Given the description of an element on the screen output the (x, y) to click on. 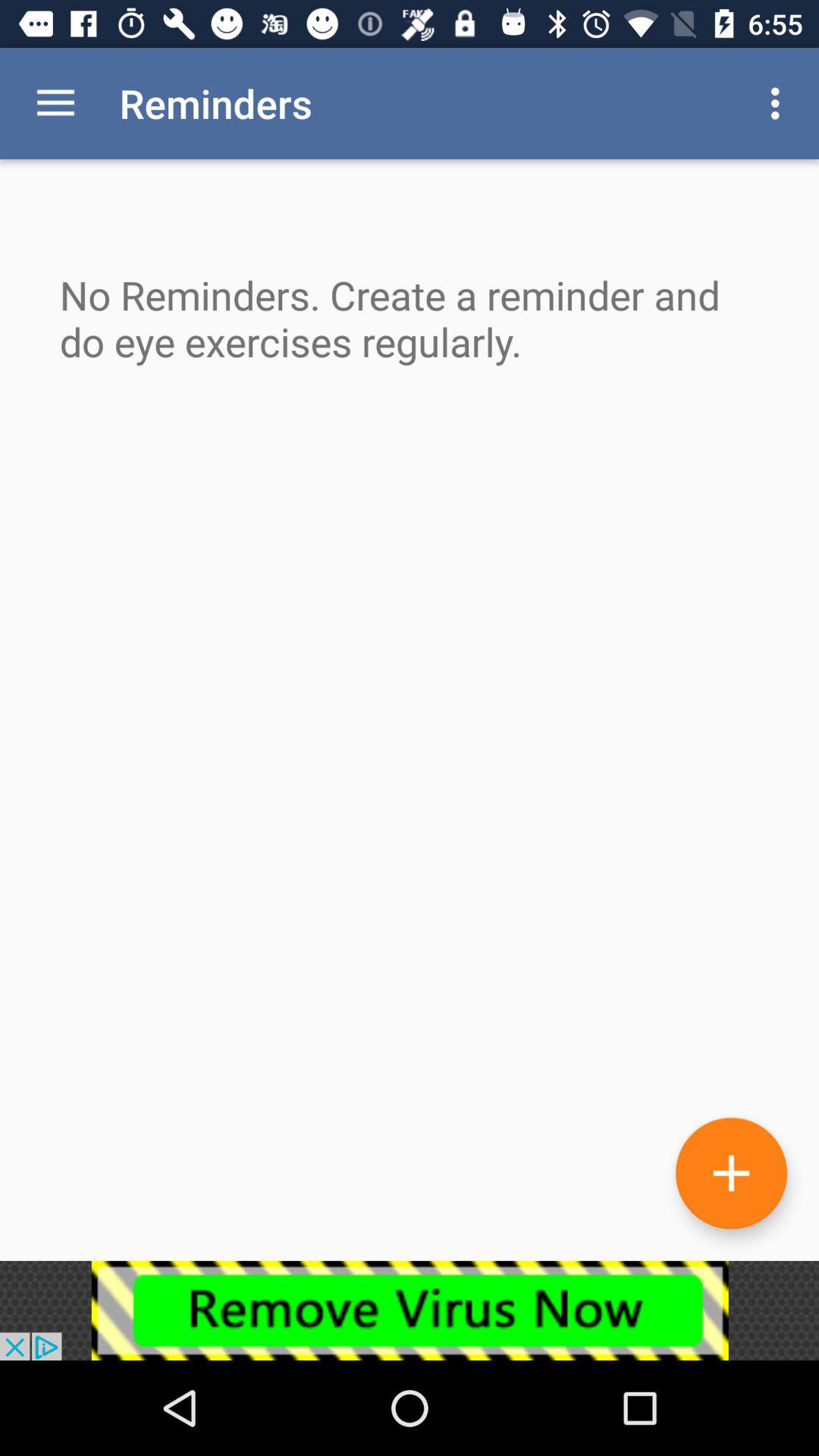
go to advertisement (409, 1310)
